Given the description of an element on the screen output the (x, y) to click on. 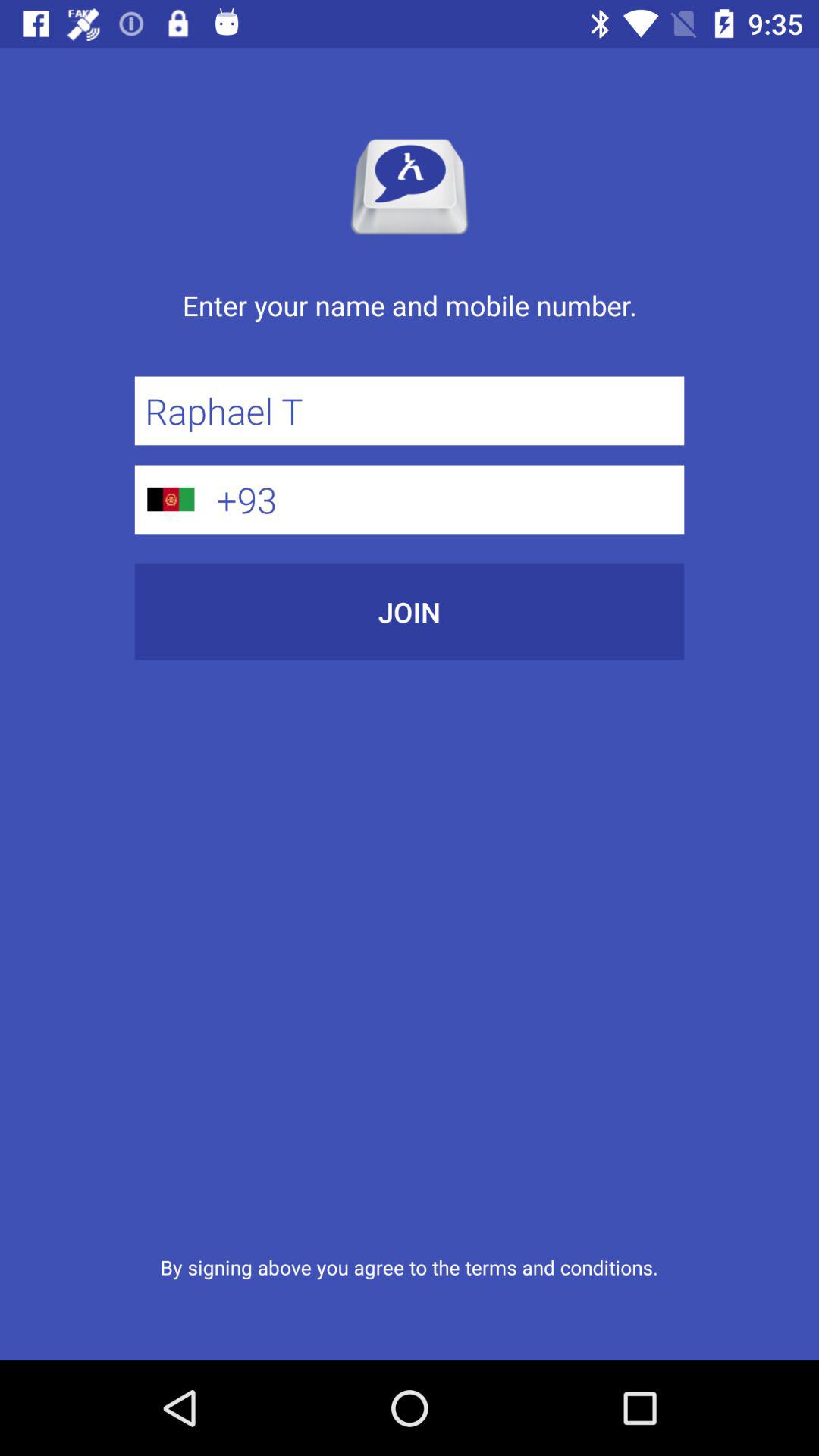
flip to +93 (445, 499)
